Given the description of an element on the screen output the (x, y) to click on. 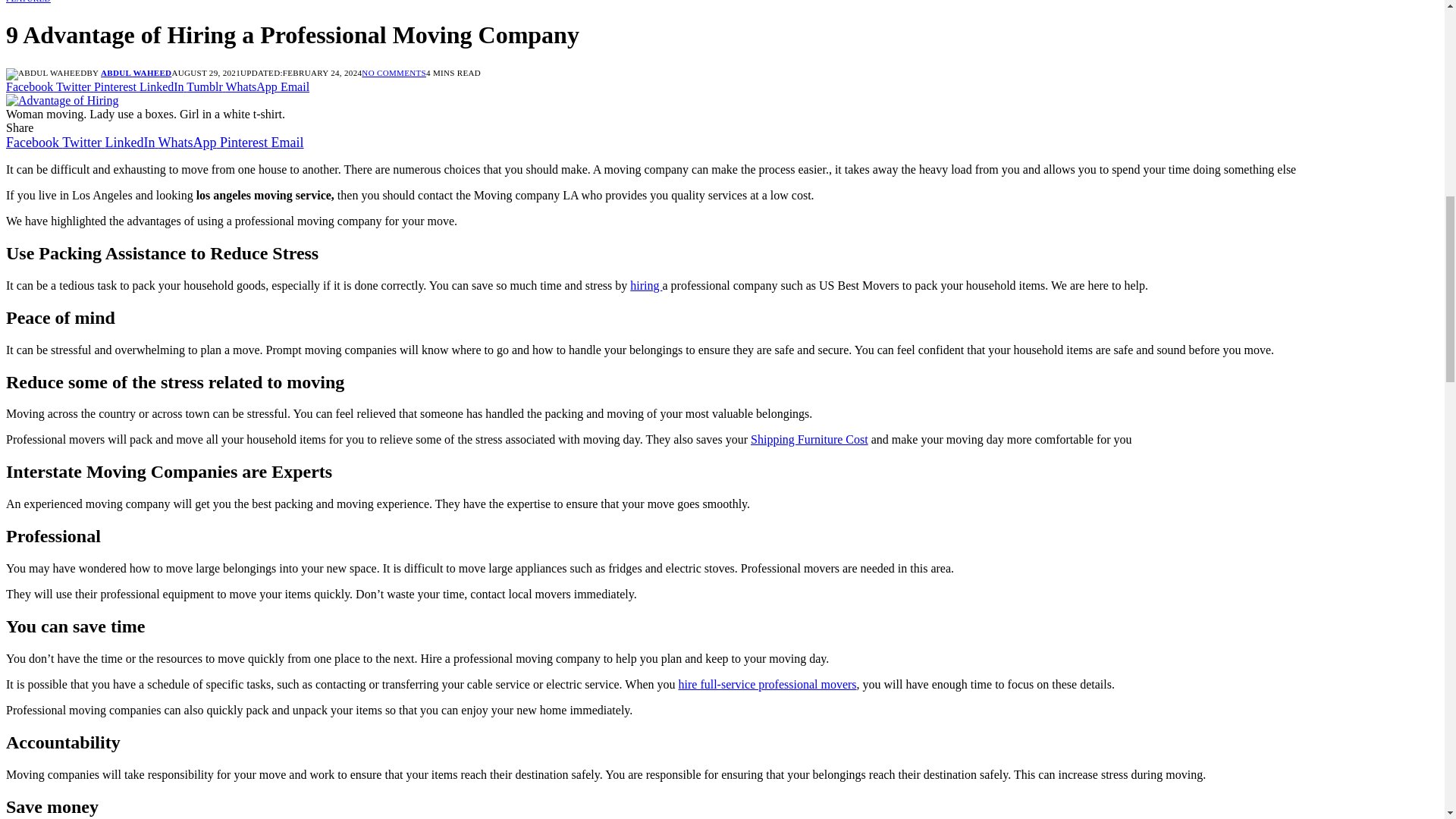
Facebook (33, 142)
Posts by Abdul Waheed (135, 71)
Share on WhatsApp (252, 86)
Share on Tumblr (205, 86)
9 Advantage of Hiring a Professional  Moving Company (61, 100)
Share on Pinterest (116, 86)
Share on Facebook (30, 86)
Share on LinkedIn (162, 86)
9 Advantage of Hiring a Professional  Moving Company (61, 100)
Share via Email (294, 86)
